Given the description of an element on the screen output the (x, y) to click on. 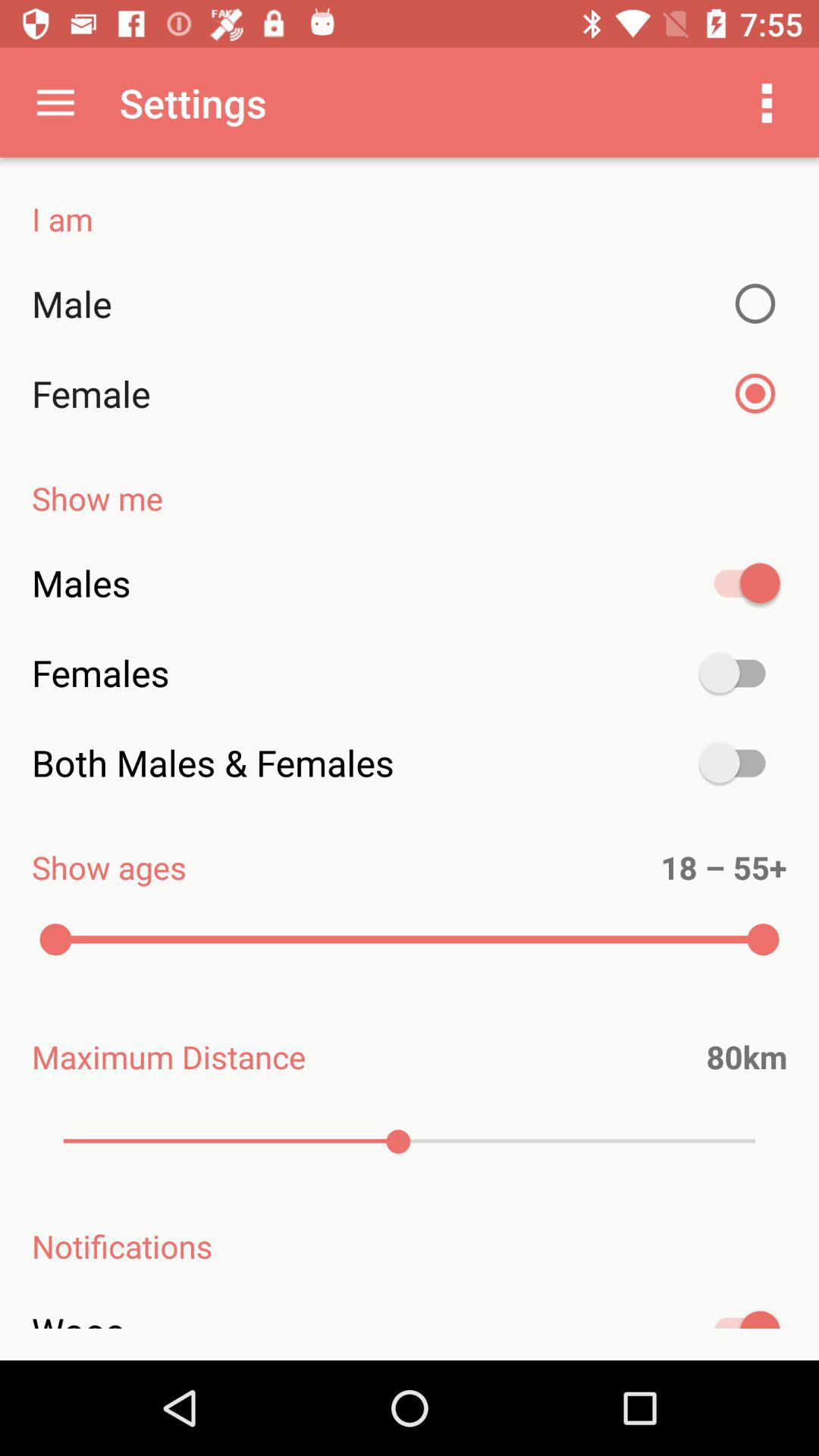
turn off icon above the show ages icon (409, 762)
